Given the description of an element on the screen output the (x, y) to click on. 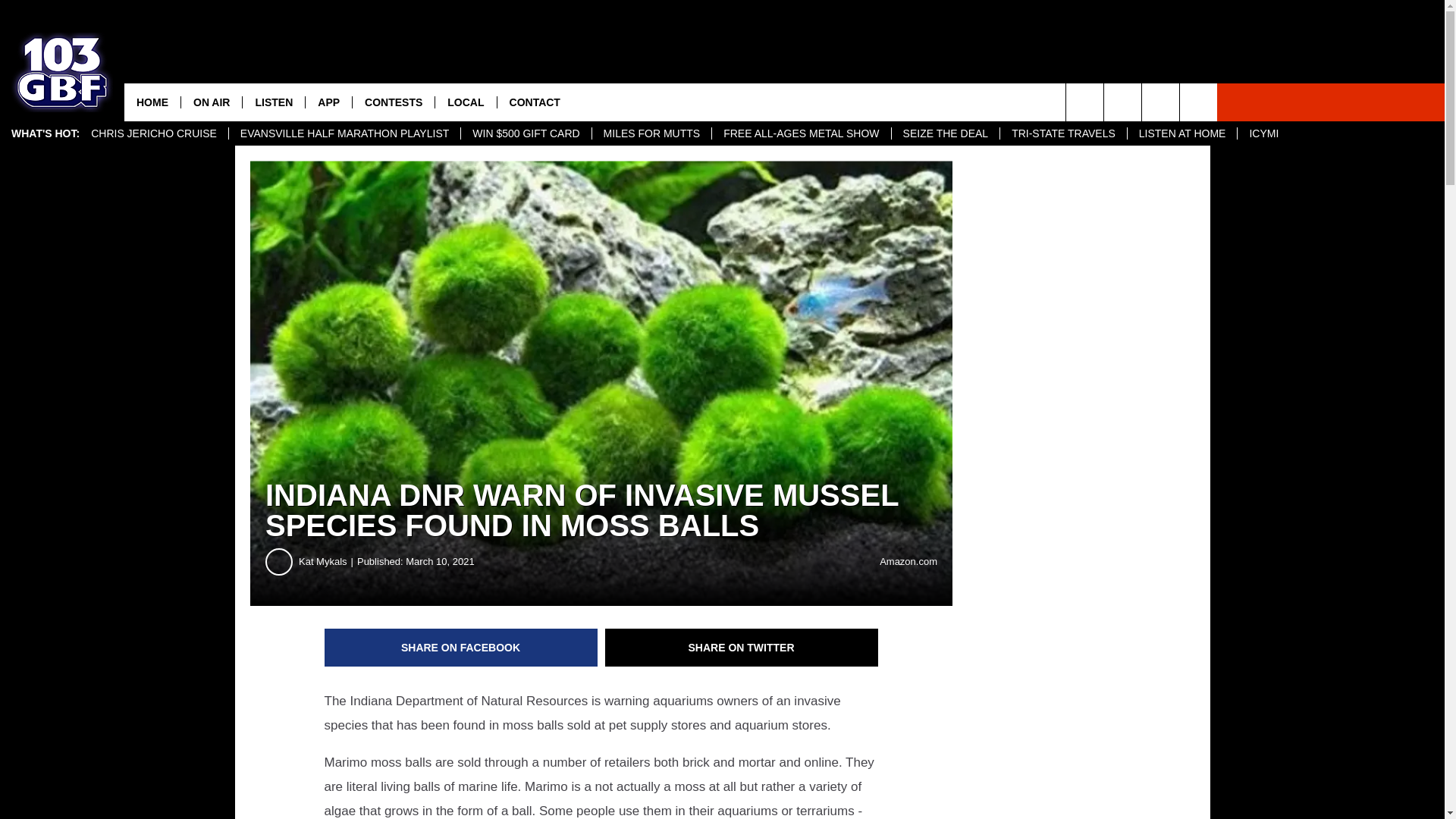
LISTEN AT HOME (1181, 133)
ON AIR (210, 102)
Share on Facebook (460, 647)
APP (328, 102)
HOME (151, 102)
LISTEN (272, 102)
Share on Twitter (741, 647)
SEIZE THE DEAL (945, 133)
ICYMI (1263, 133)
MILES FOR MUTTS (651, 133)
